Given the description of an element on the screen output the (x, y) to click on. 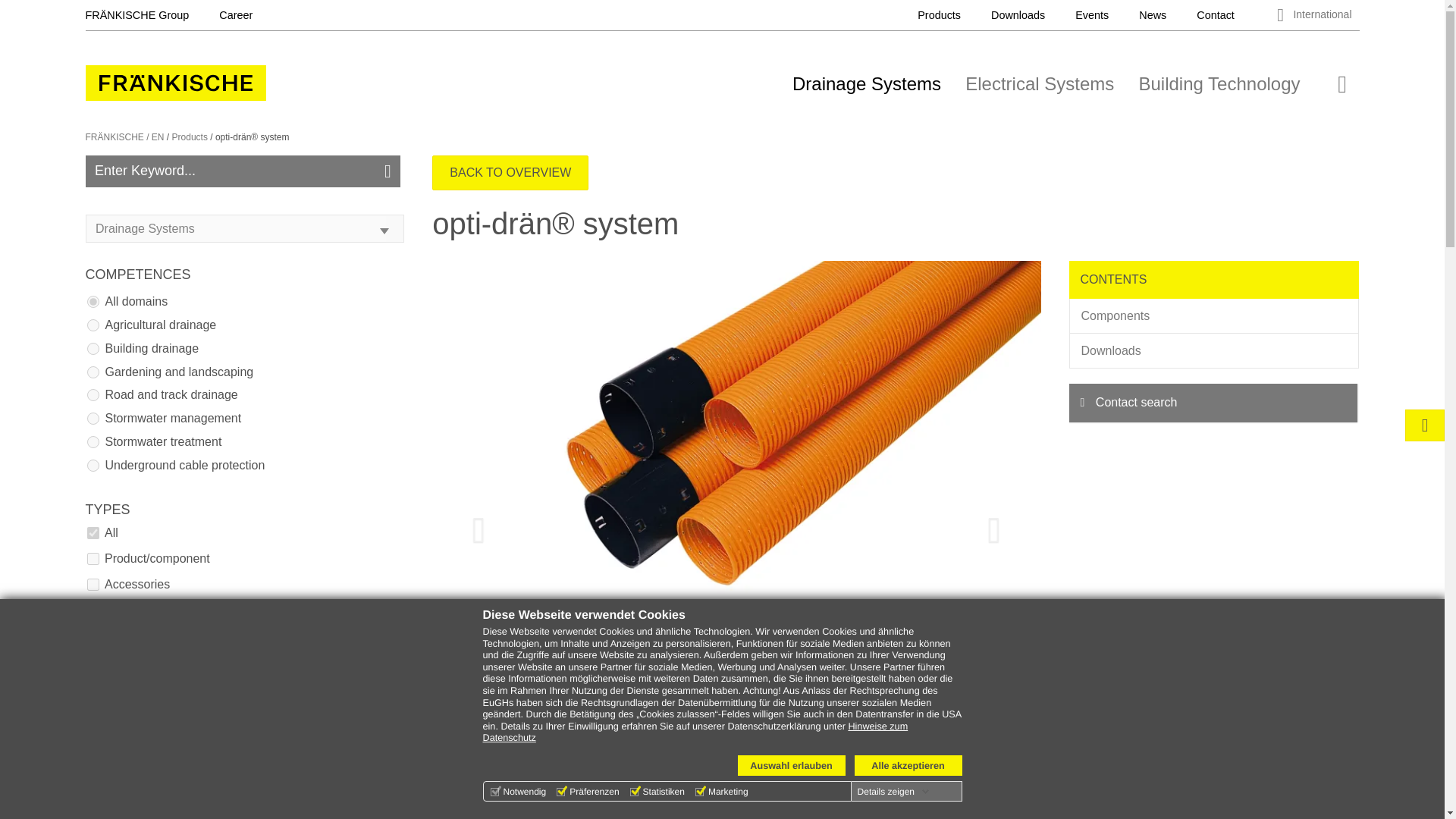
accessories (92, 584)
underground-cable-protection (92, 465)
stormwater-management (92, 418)
agricultural-drainage (92, 325)
Auswahl erlauben (790, 765)
system (92, 610)
all (92, 532)
building-drainage (92, 348)
Details zeigen (893, 791)
